Given the description of an element on the screen output the (x, y) to click on. 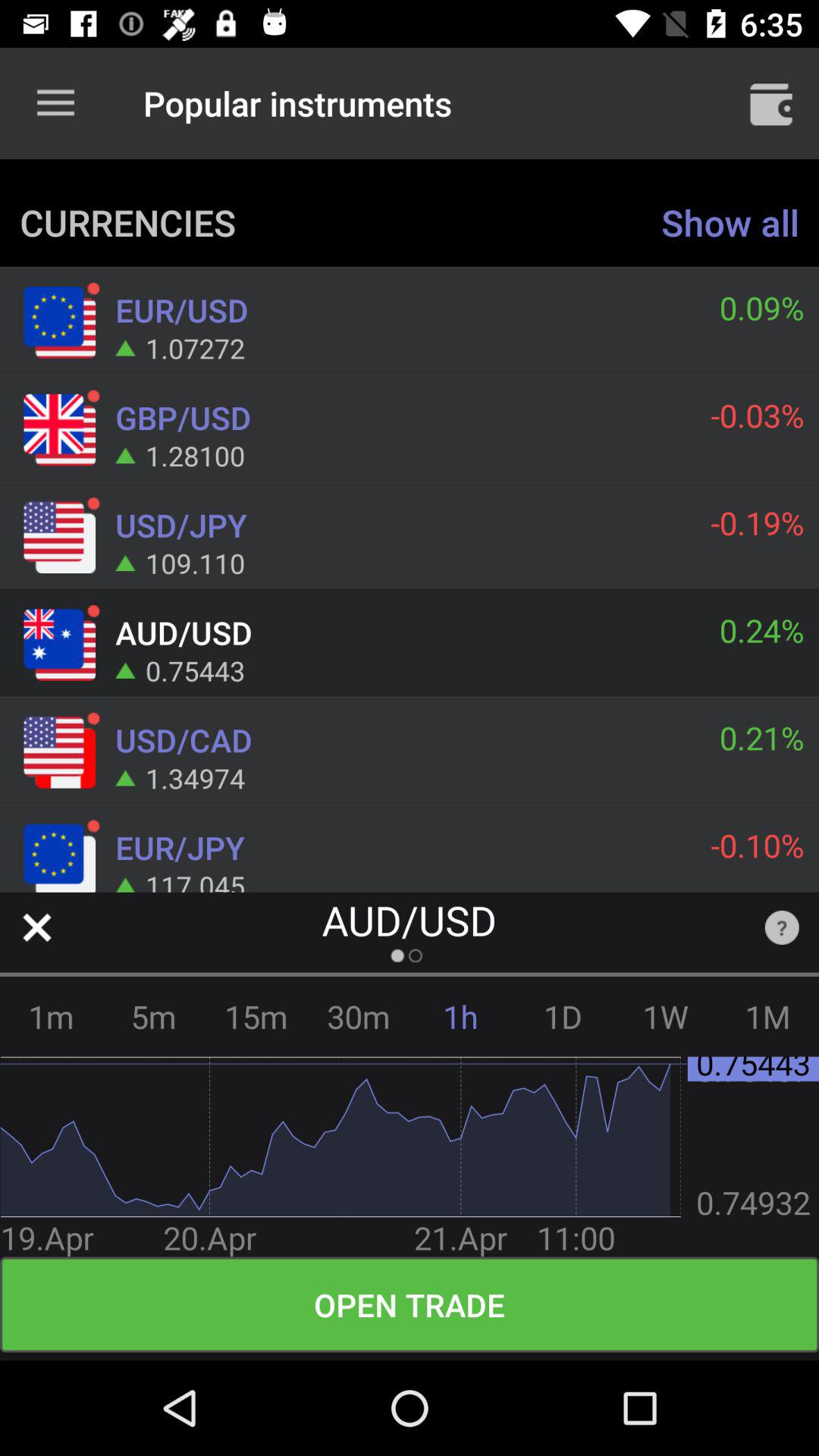
select item next to 1m item (153, 1016)
